Given the description of an element on the screen output the (x, y) to click on. 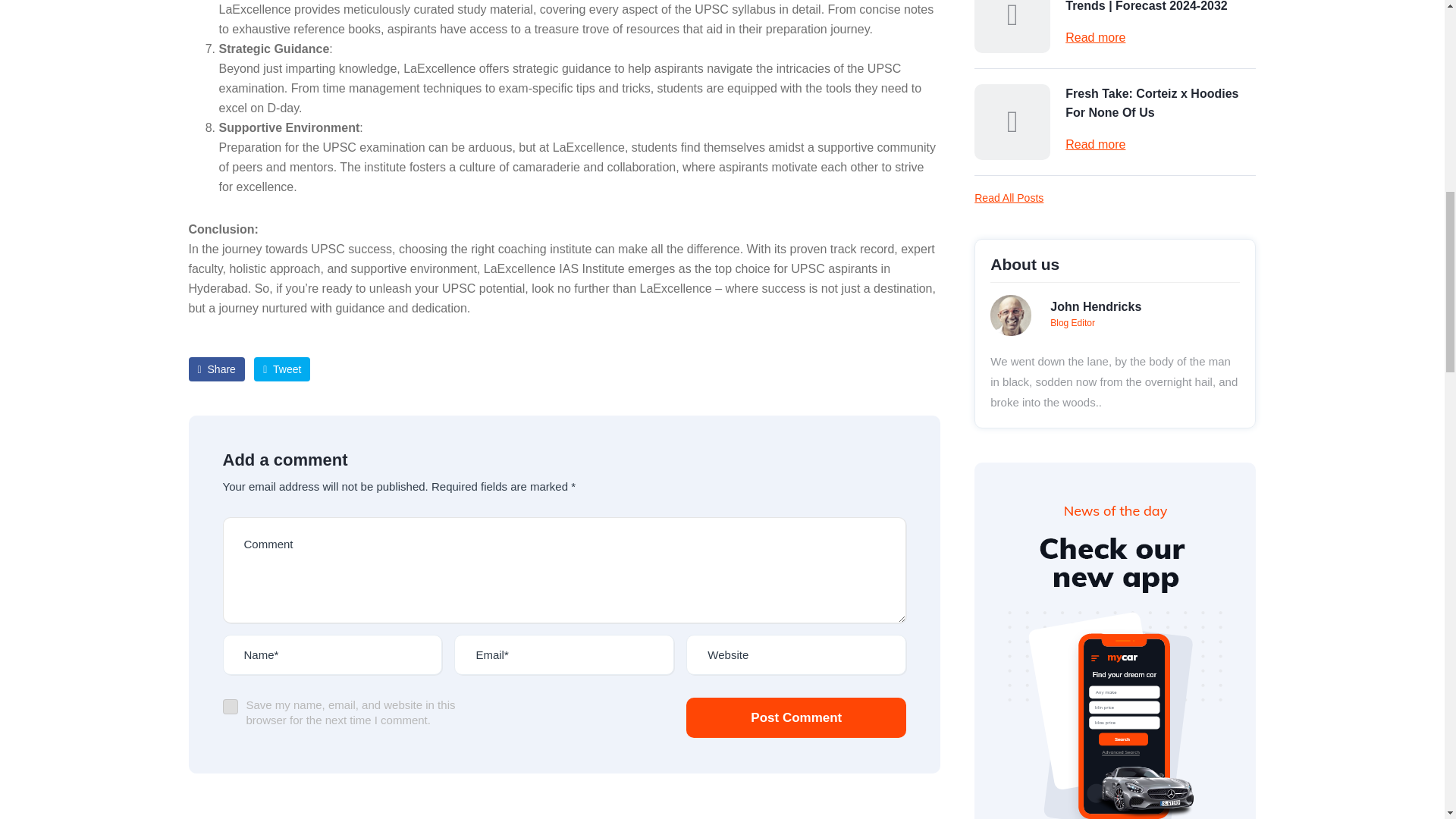
Tweet (281, 369)
Share (215, 369)
Post Comment (795, 717)
